Given the description of an element on the screen output the (x, y) to click on. 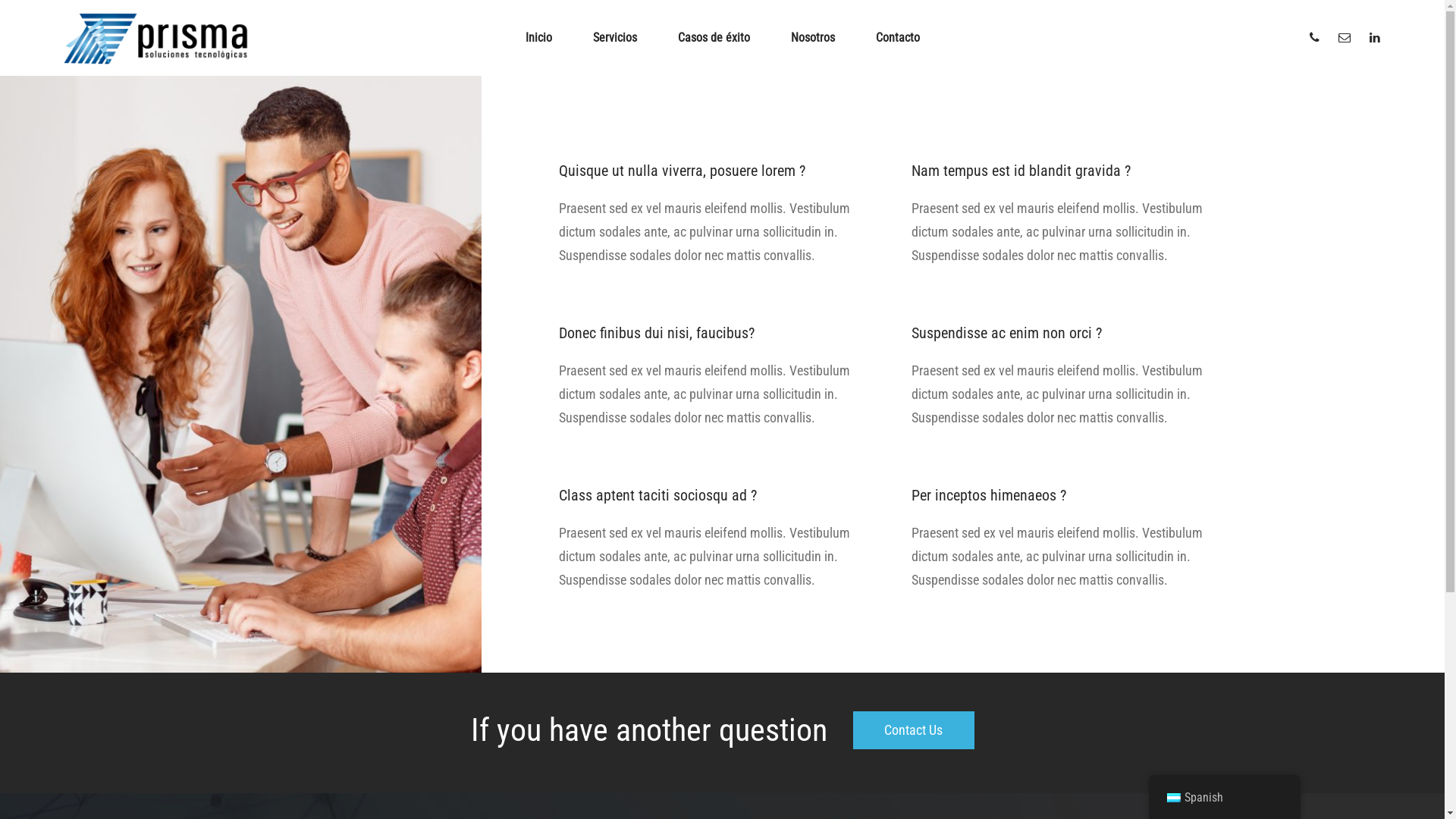
Contacto Element type: text (897, 37)
Nosotros Element type: text (812, 37)
Servicios Element type: text (613, 37)
Prisma Element type: text (155, 37)
Contact Us Element type: text (912, 730)
Inicio Element type: text (538, 37)
Spanish Element type: text (1223, 797)
Spanish Element type: hover (1172, 797)
